Given the description of an element on the screen output the (x, y) to click on. 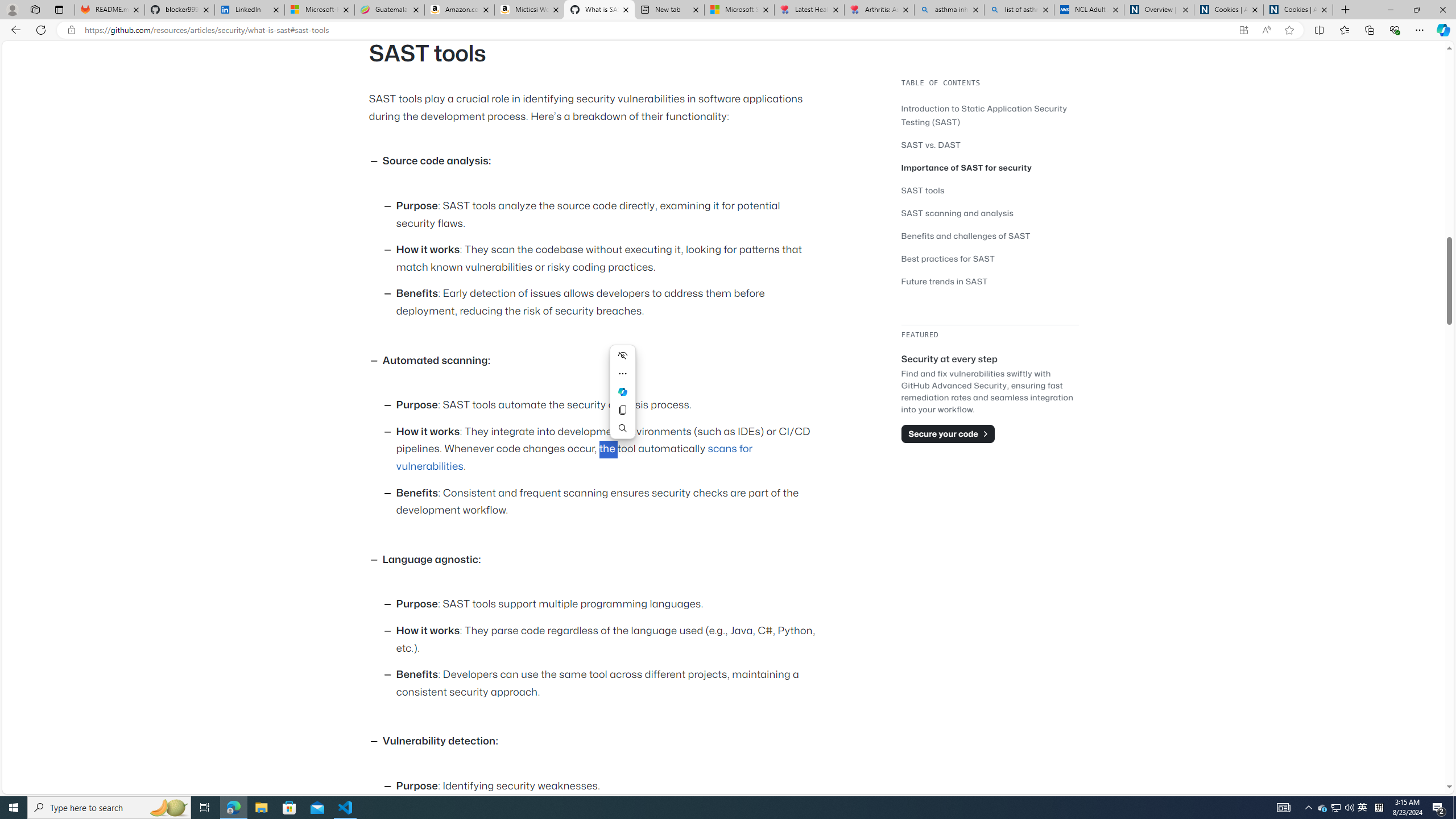
App available. Install GitHub (1243, 29)
Future trends in SAST (989, 281)
Mini menu on text selection (622, 391)
SAST scanning and analysis (989, 212)
Copy (622, 410)
Importance of SAST for security (966, 166)
Purpose: SAST tools automate the security analysis process. (608, 405)
SAST tools (989, 190)
